Given the description of an element on the screen output the (x, y) to click on. 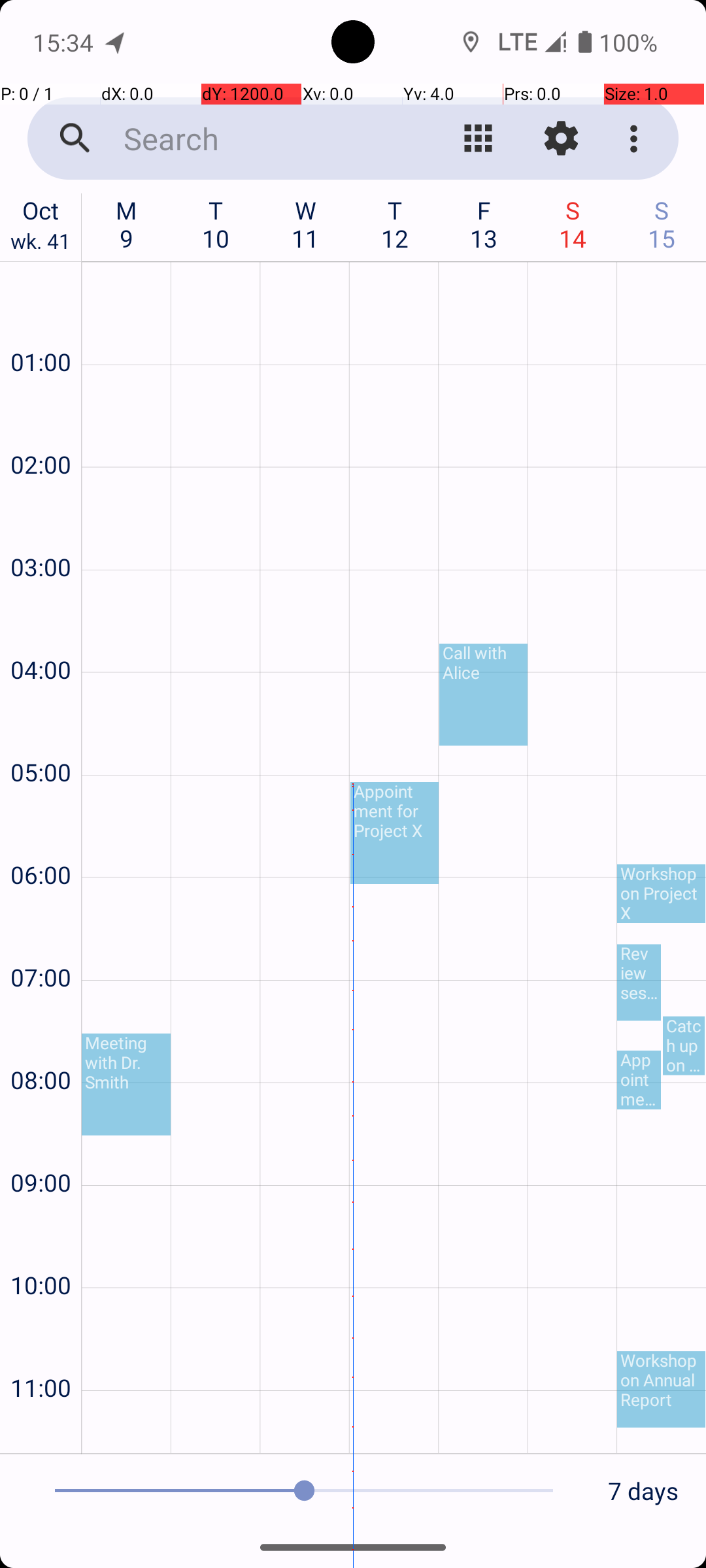
01:00 Element type: android.widget.TextView (40, 326)
02:00 Element type: android.widget.TextView (40, 429)
03:00 Element type: android.widget.TextView (40, 531)
04:00 Element type: android.widget.TextView (40, 634)
05:00 Element type: android.widget.TextView (40, 737)
06:00 Element type: android.widget.TextView (40, 839)
